Given the description of an element on the screen output the (x, y) to click on. 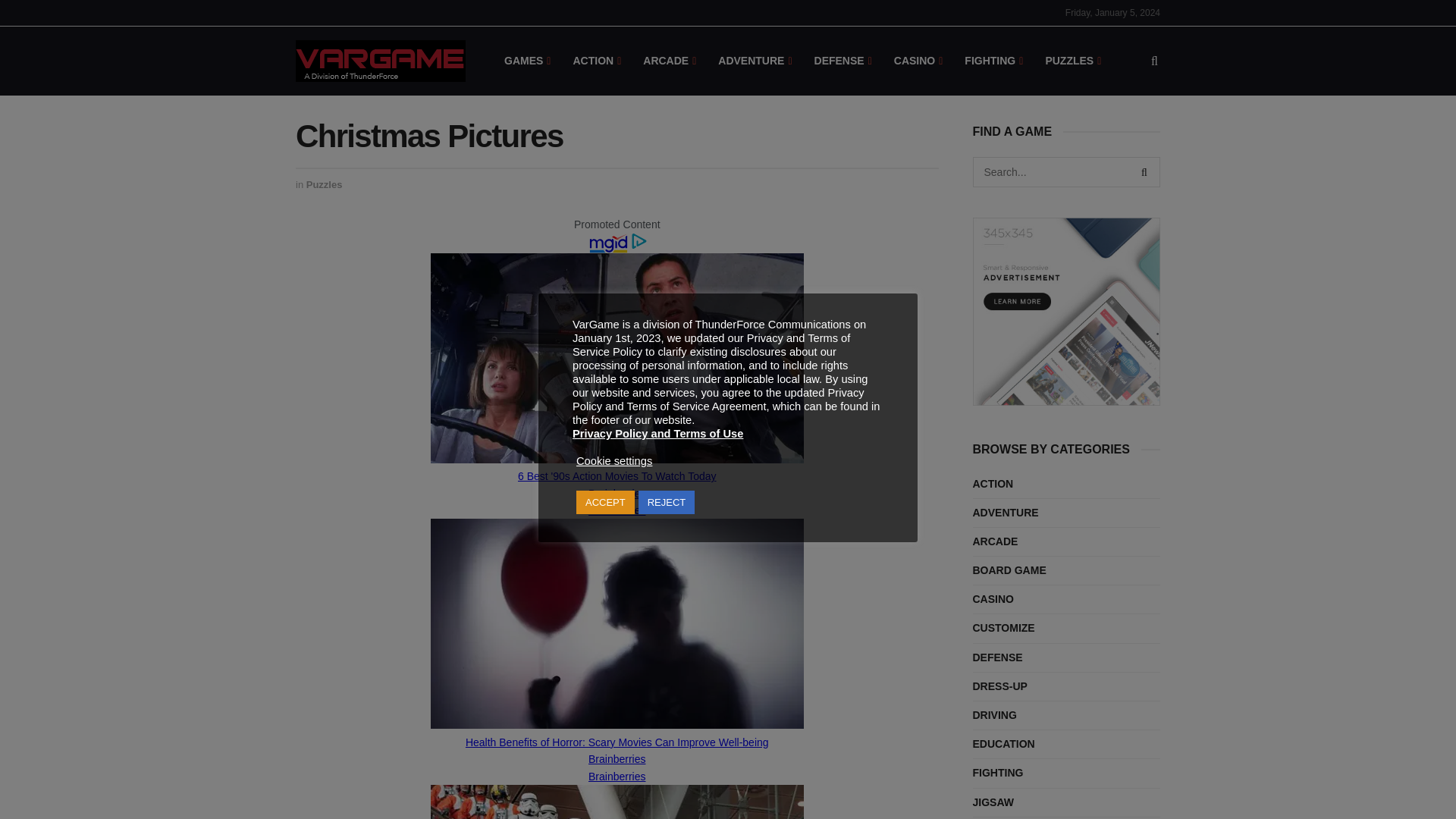
GAMES (526, 60)
